Given the description of an element on the screen output the (x, y) to click on. 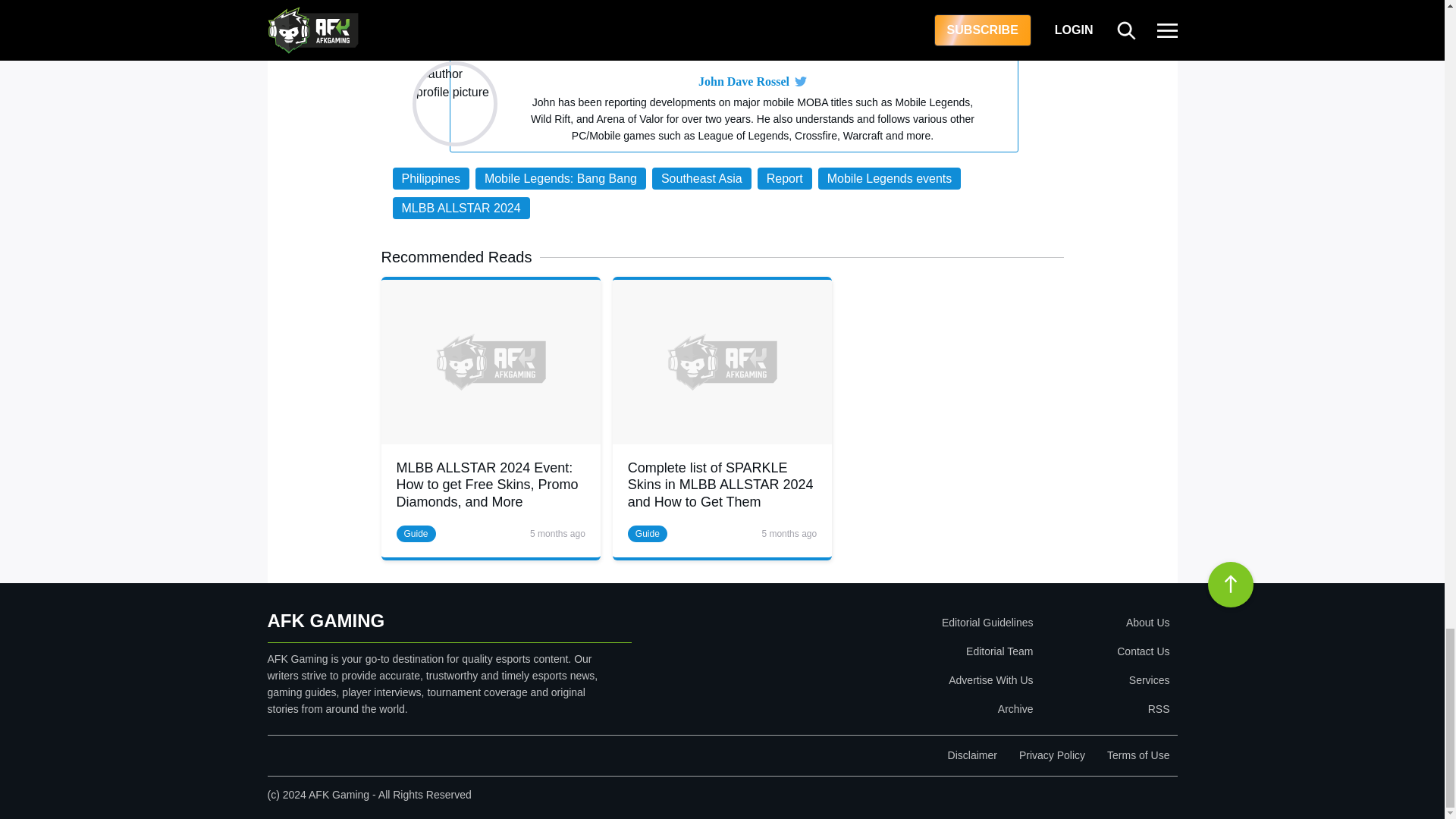
RSS (1105, 708)
Editorial Guidelines (899, 622)
Mobile Legends: Bang Bang (561, 178)
Contact Us (1105, 651)
Disclaimer (972, 755)
Terms of Use (1137, 755)
Mobile Legends events (889, 178)
Editorial Team (899, 651)
Philippines (430, 178)
John Dave Rossel (743, 81)
Privacy Policy (1051, 755)
Services (1105, 680)
Archive (899, 708)
MLBB ALLSTAR 2024 (461, 208)
